Given the description of an element on the screen output the (x, y) to click on. 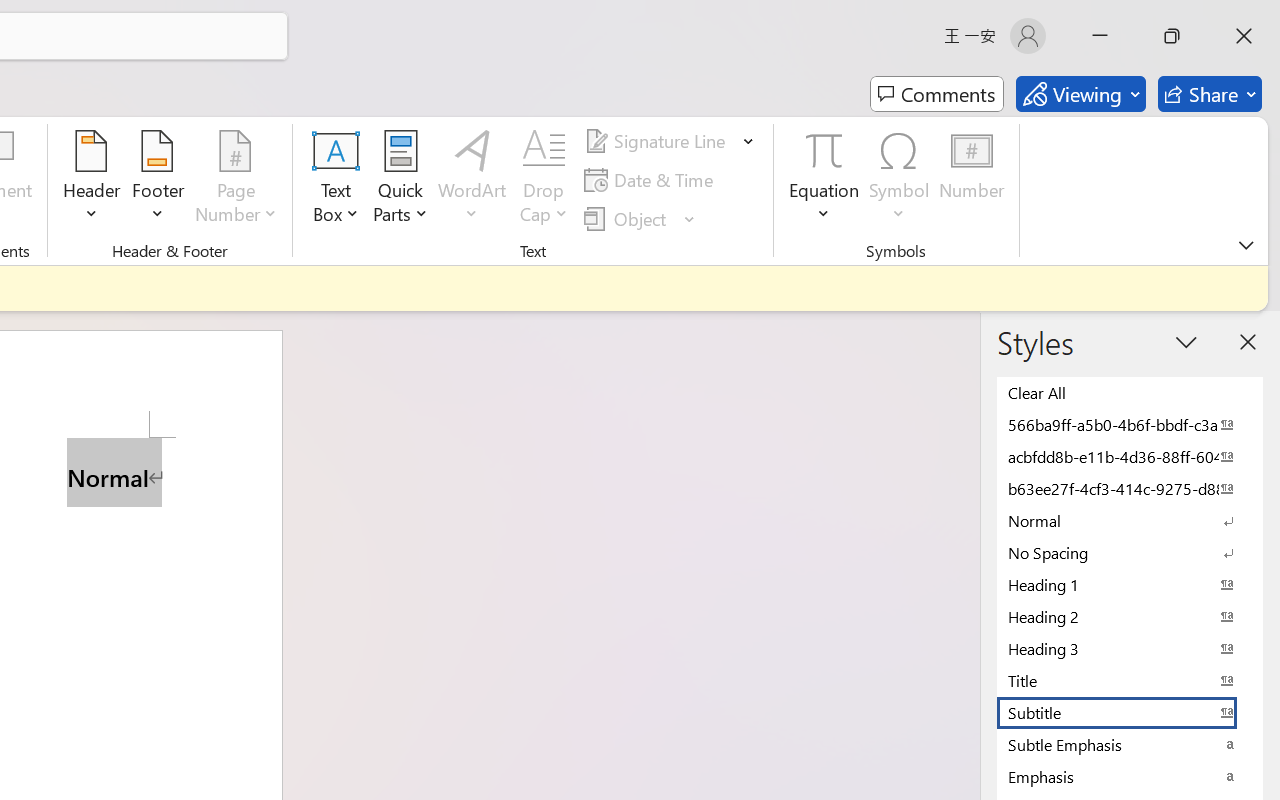
Equation (823, 179)
Subtitle (1130, 712)
Date & Time... (651, 179)
566ba9ff-a5b0-4b6f-bbdf-c3ab41993fc2 (1130, 424)
Mode (1080, 94)
No Spacing (1130, 552)
b63ee27f-4cf3-414c-9275-d88e3f90795e (1130, 488)
Page Number (236, 179)
Symbol (899, 179)
Signature Line (658, 141)
Heading 1 (1130, 584)
